Given the description of an element on the screen output the (x, y) to click on. 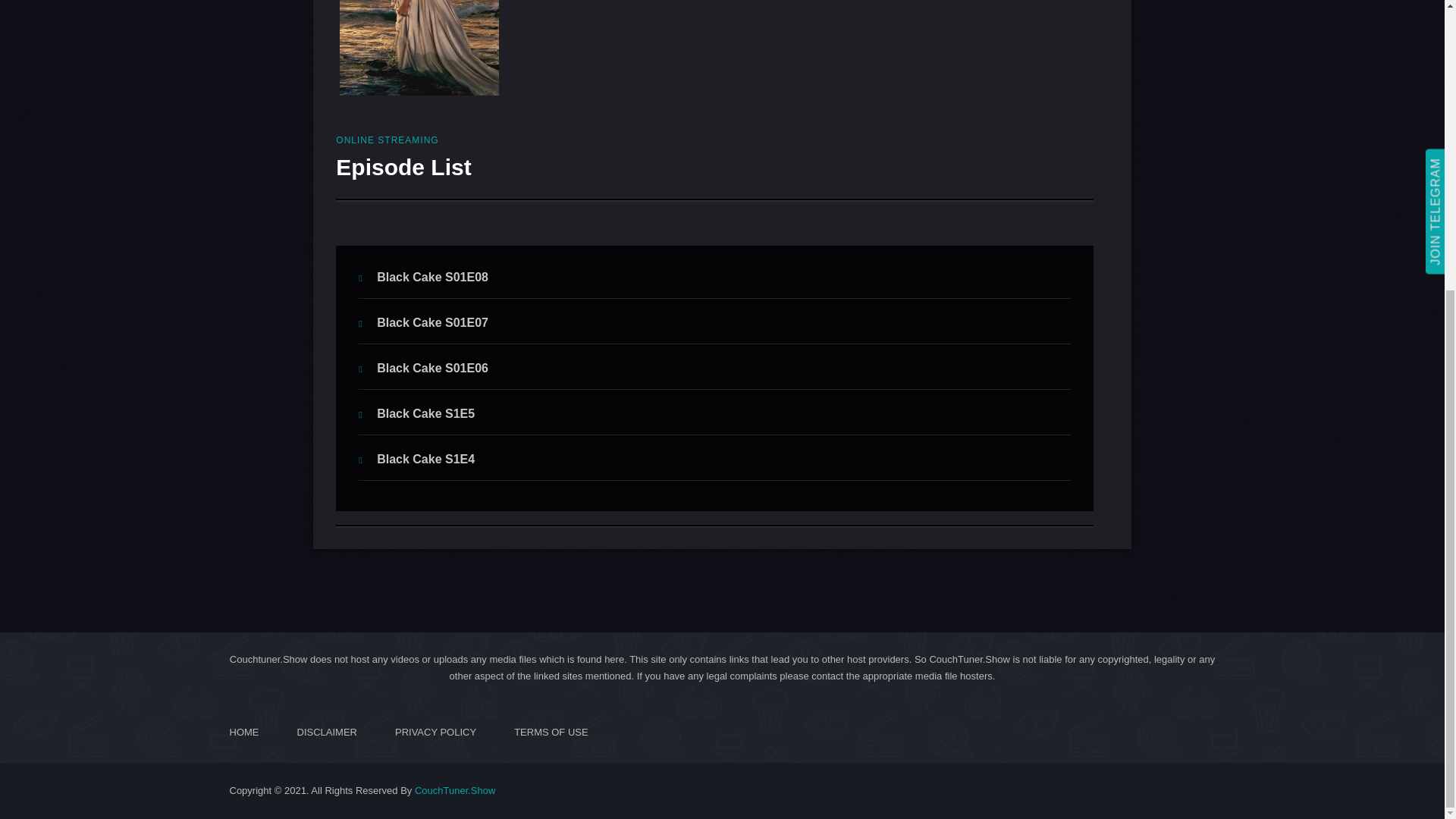
PRIVACY POLICY (435, 732)
DISCLAIMER (326, 732)
Black Cake S01E08 (422, 277)
Black Cake S1E5 (416, 413)
Black Cake S1E4 (416, 459)
HOME (243, 732)
Black Cake S01E07 (422, 322)
Black Cake S01E06 (422, 367)
TERMS OF USE (550, 732)
CouchTuner.Show (454, 790)
